Given the description of an element on the screen output the (x, y) to click on. 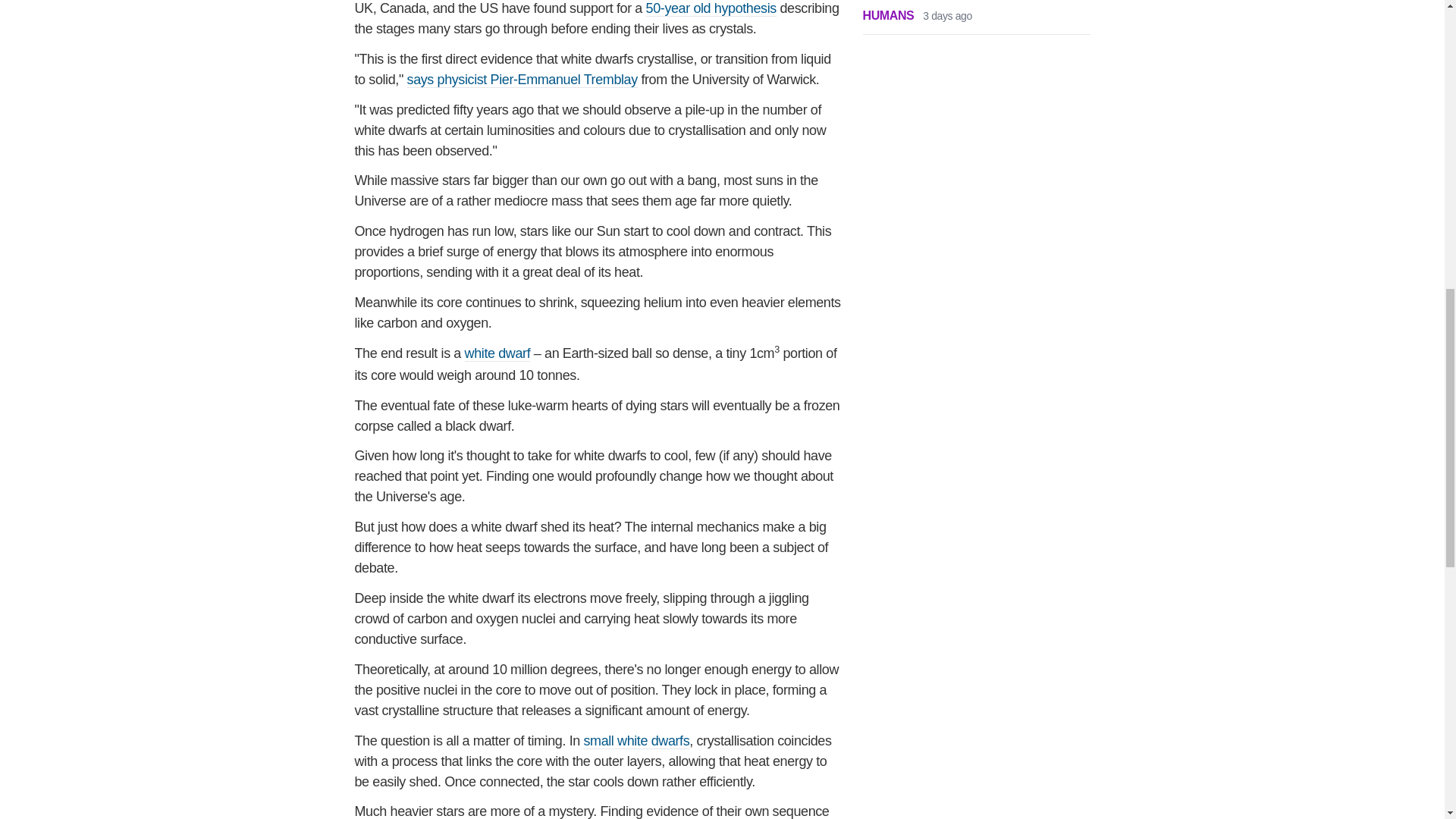
small white dwarfs (635, 741)
white dwarf (497, 353)
50-year old hypothesis (711, 8)
says physicist Pier-Emmanuel Tremblay (522, 79)
